Given the description of an element on the screen output the (x, y) to click on. 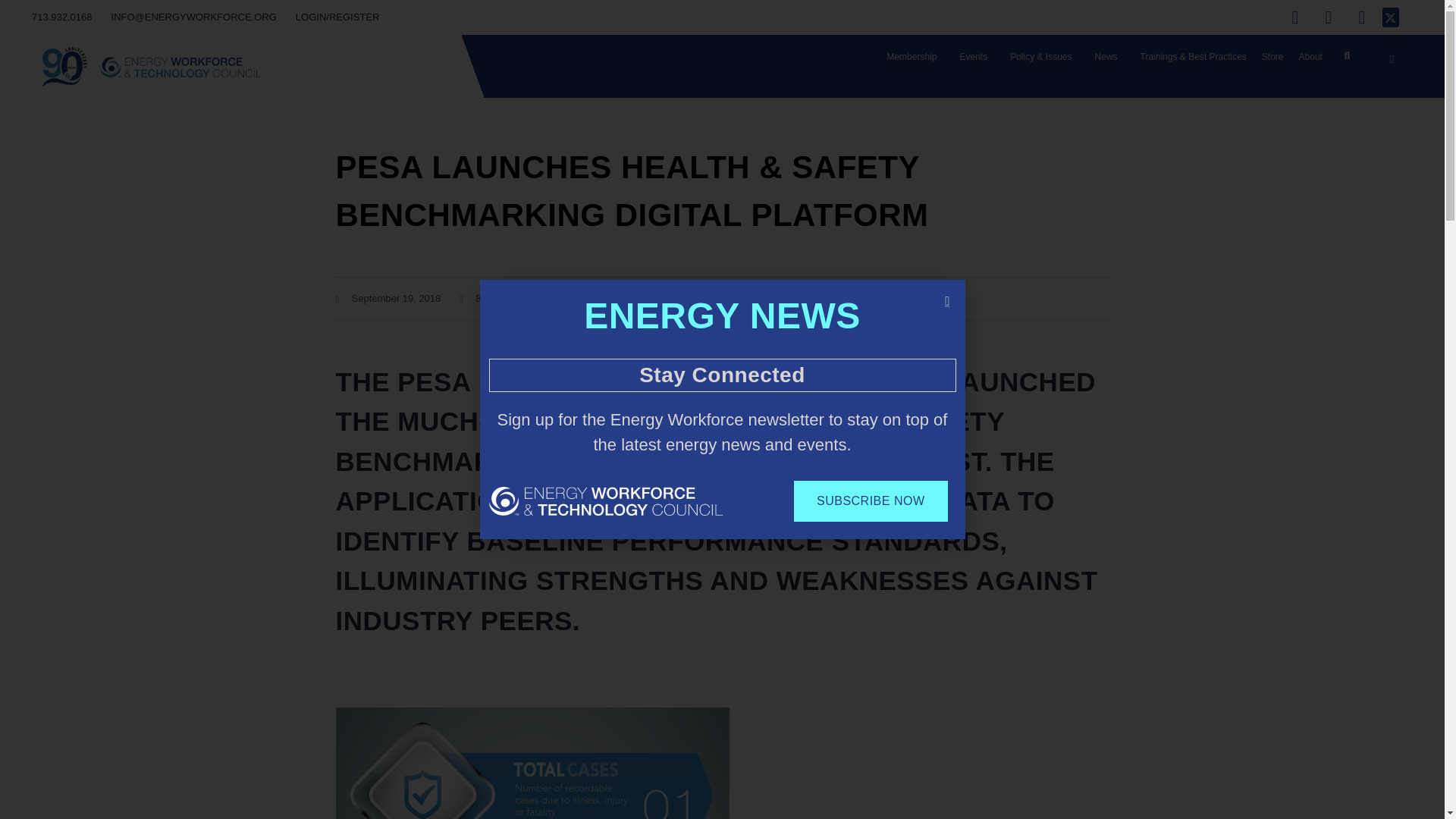
713.932.0168 (62, 17)
Membership (915, 56)
Events (977, 56)
